Given the description of an element on the screen output the (x, y) to click on. 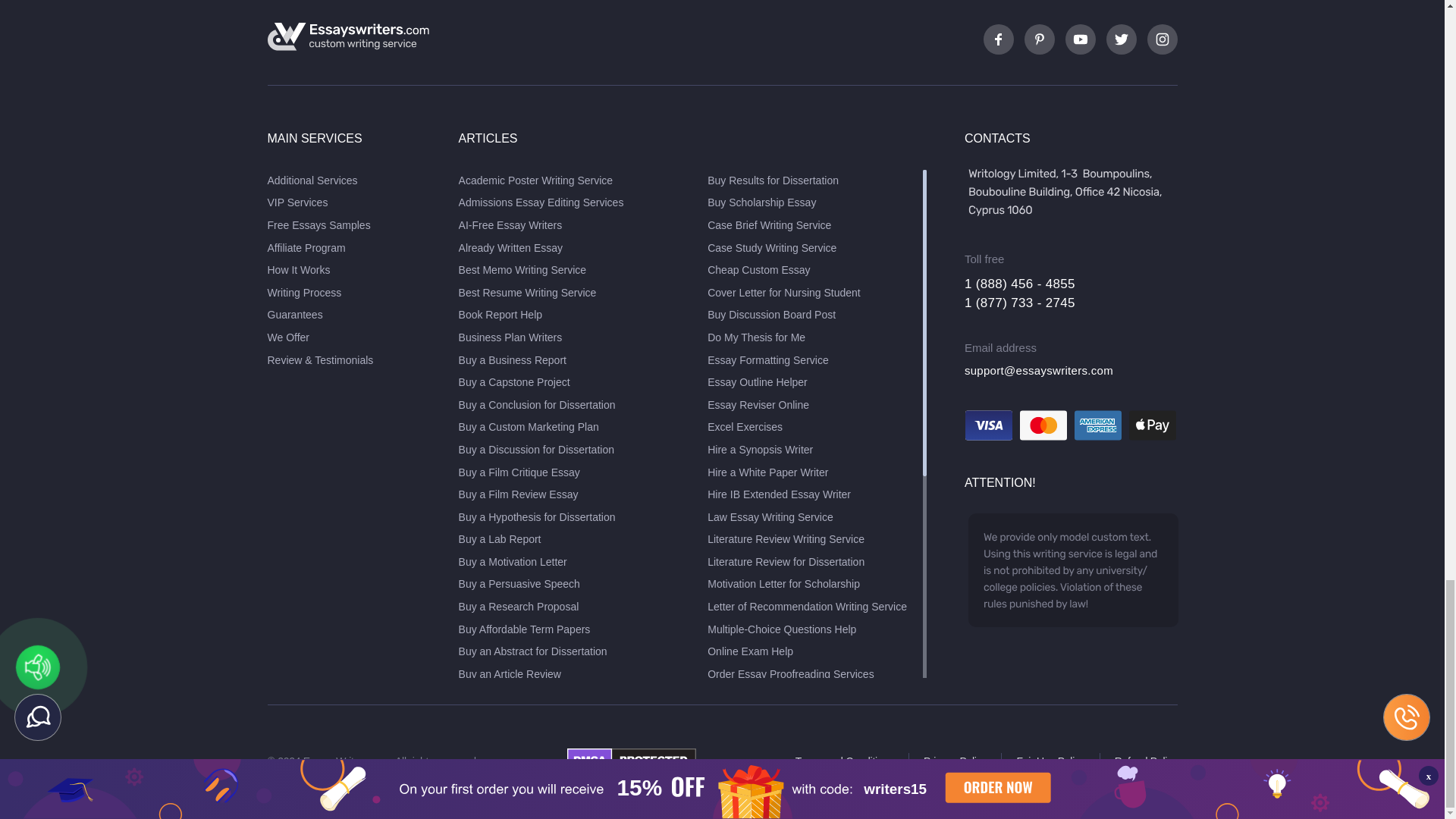
DMCA.com Protection Status (631, 766)
